Given the description of an element on the screen output the (x, y) to click on. 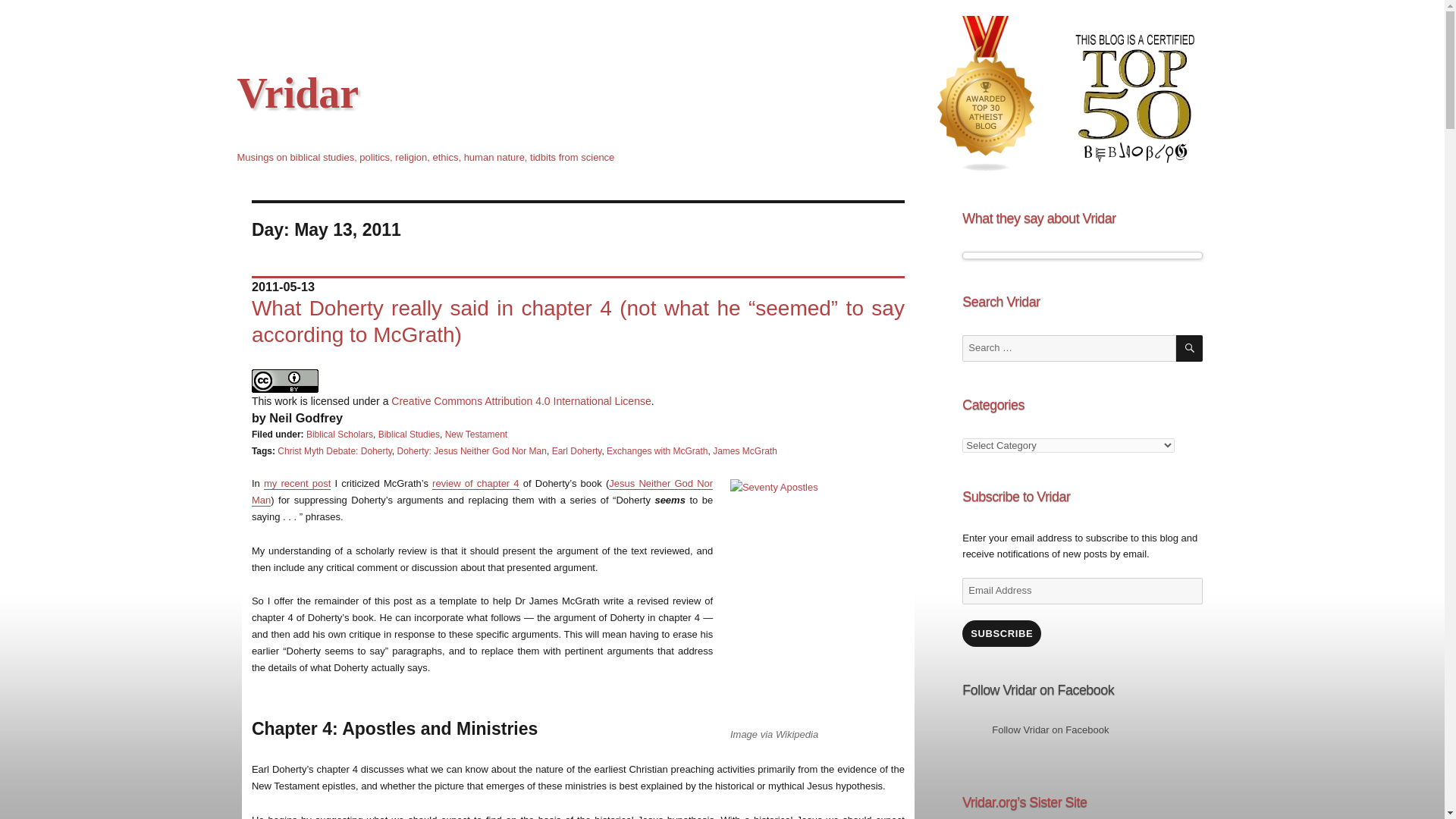
Exchanges with McGrath (657, 450)
Christ Myth Debate: Doherty (334, 450)
James McGrath (745, 450)
Biblical Studies (408, 434)
Creative Commons Attribution 4.0 International License (520, 400)
review of chapter 4 (475, 482)
my recent post (296, 482)
New Testament (475, 434)
Vridar (296, 93)
Earl Doherty (576, 450)
